Given the description of an element on the screen output the (x, y) to click on. 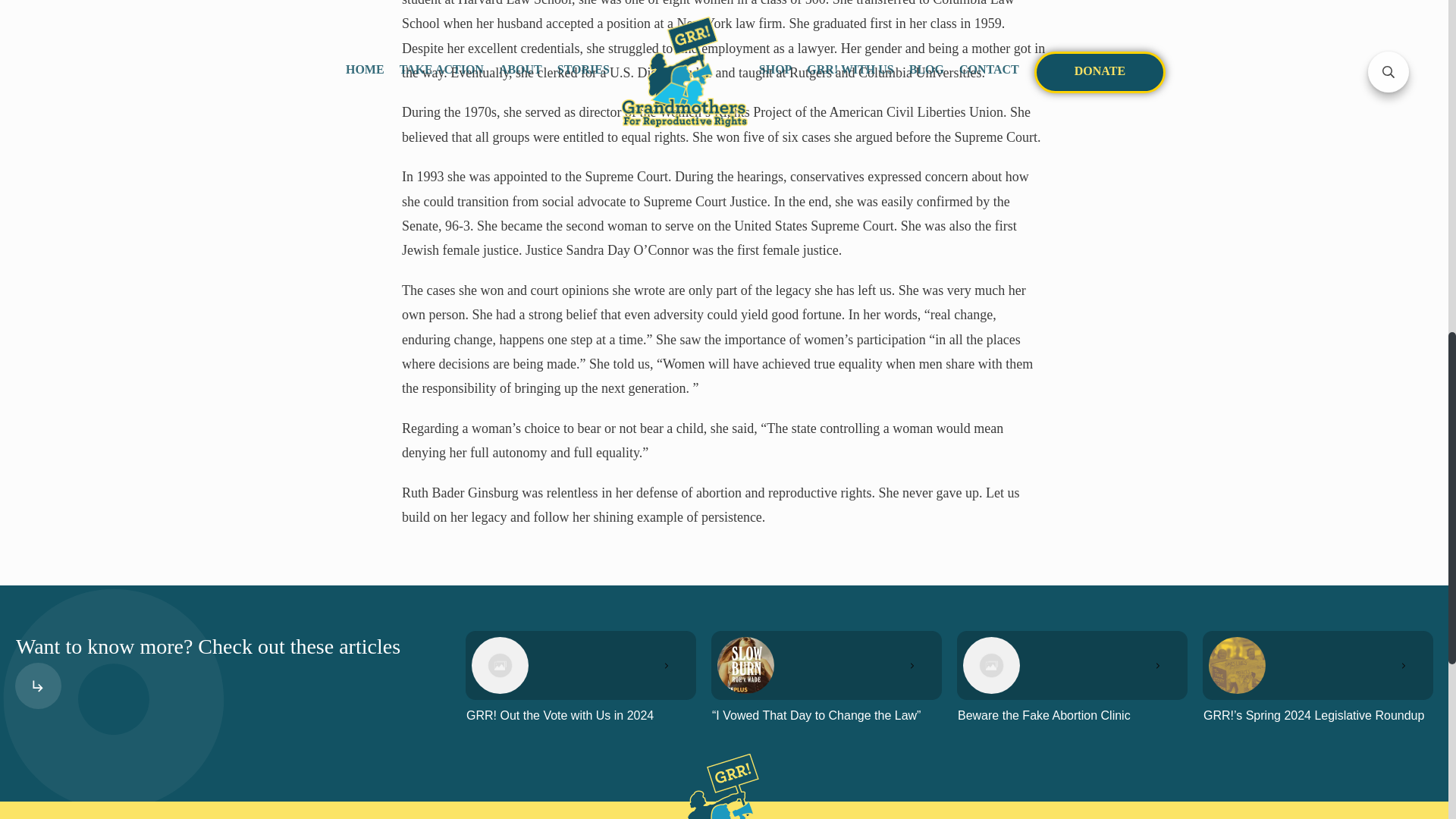
GRR! Out the Vote with Us in 2024 (559, 715)
Beware the Fake Abortion Clinic (1044, 715)
logo (724, 785)
